Given the description of an element on the screen output the (x, y) to click on. 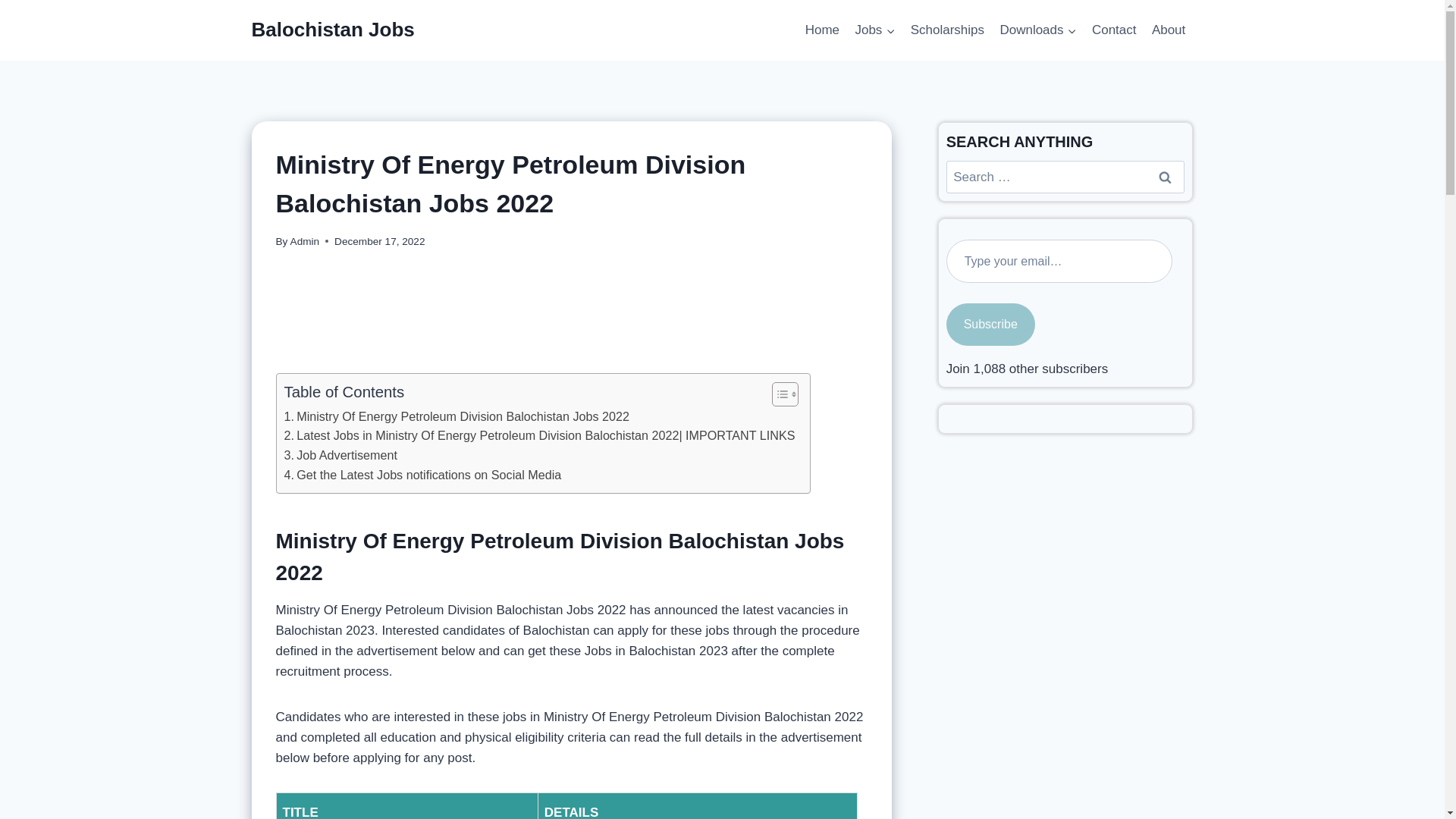
Scholarships (947, 30)
Contact (1114, 30)
Search (1166, 176)
Advertisement (571, 307)
Search (1166, 176)
Ministry Of Energy Petroleum Division Balochistan Jobs 2022 (455, 416)
Job Advertisement (340, 455)
About (1168, 30)
Downloads (1037, 30)
Jobs (874, 30)
